Given the description of an element on the screen output the (x, y) to click on. 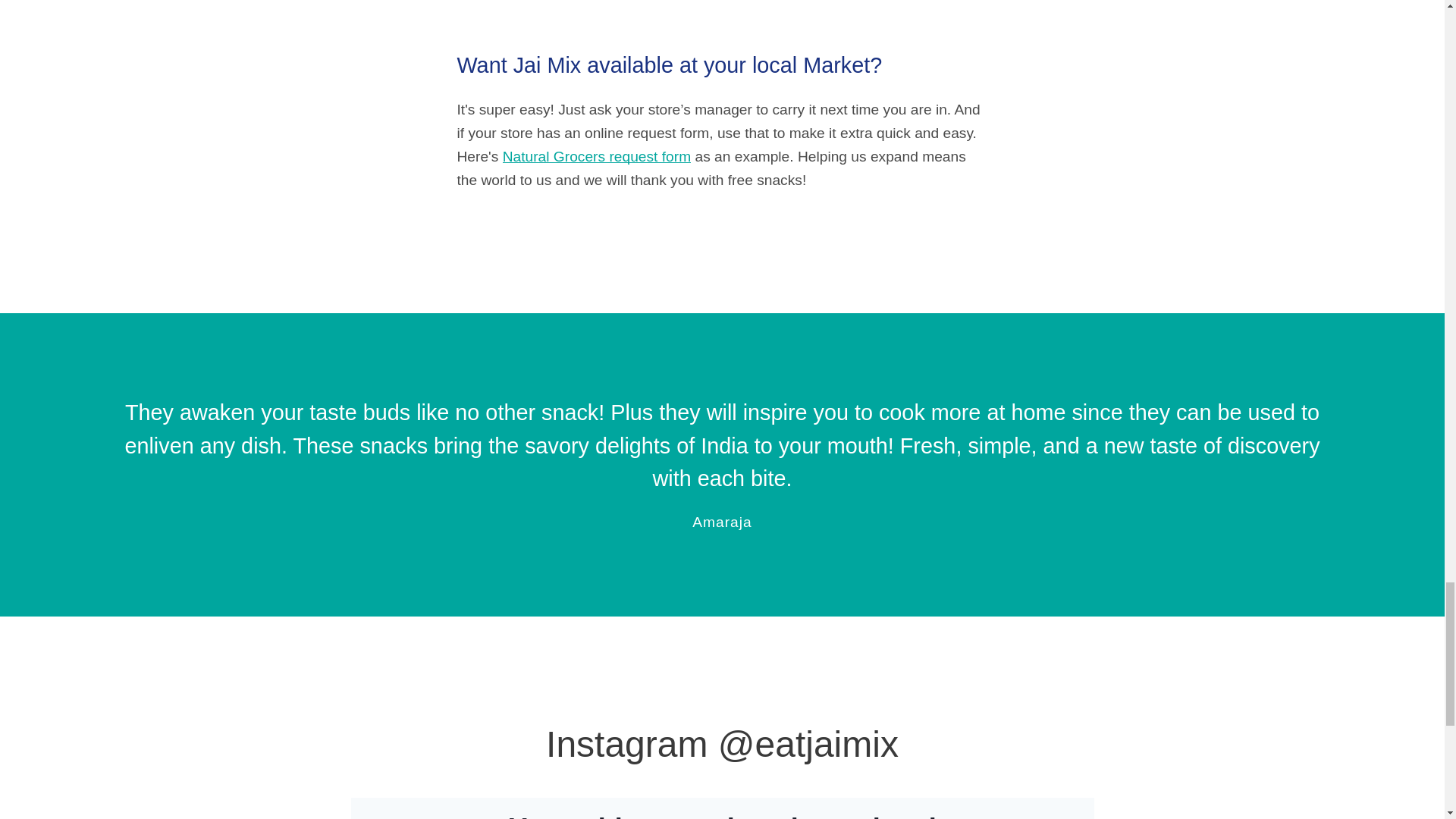
Natural Grocers request form (596, 156)
Faire.com (792, 0)
